Given the description of an element on the screen output the (x, y) to click on. 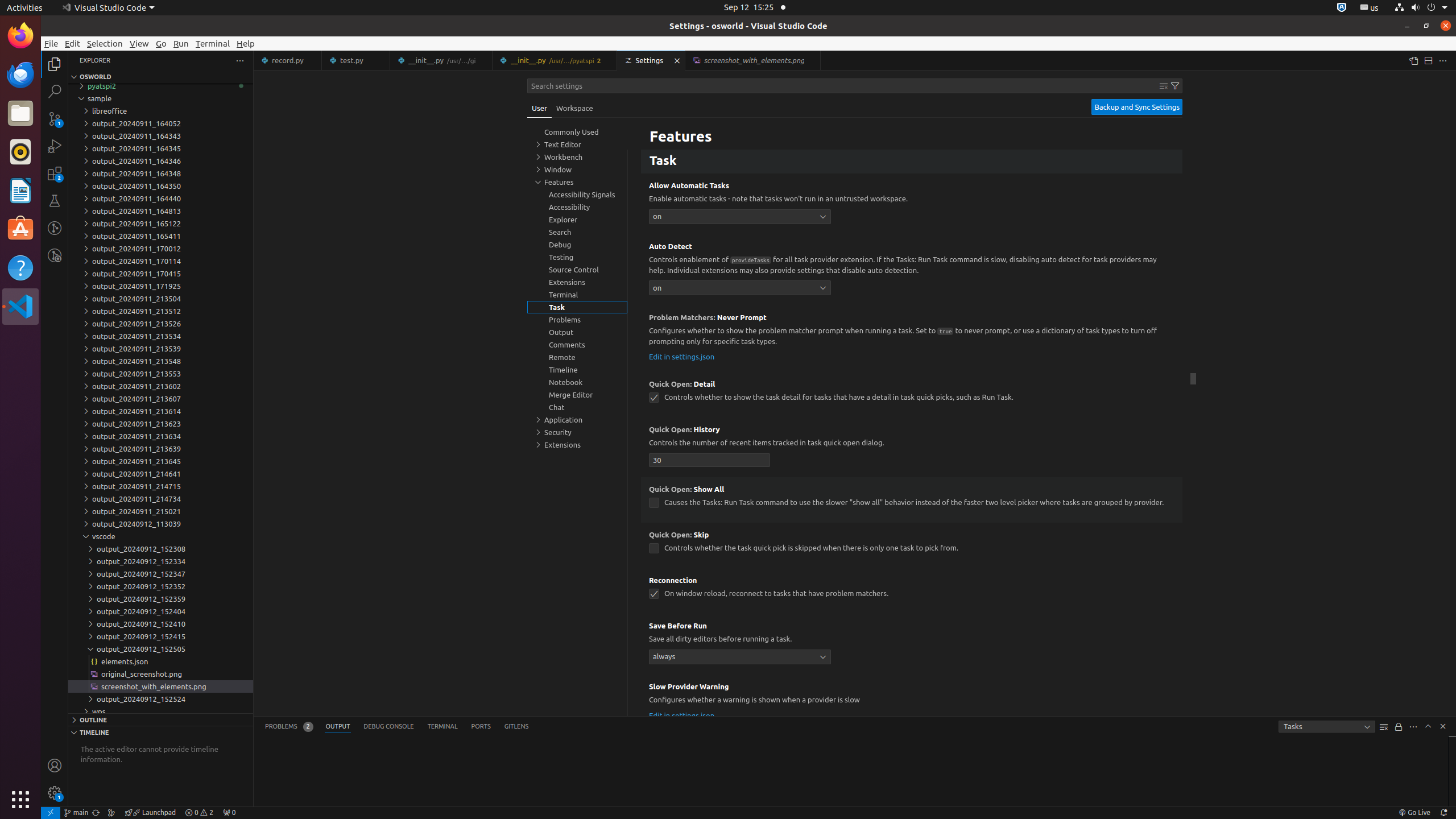
__init__.py Element type: page-tab (554, 60)
Run Element type: push-button (181, 43)
Ports Element type: page-tab (480, 726)
output_20240912_152524 Element type: tree-item (160, 698)
output_20240911_213504 Element type: tree-item (160, 298)
